Given the description of an element on the screen output the (x, y) to click on. 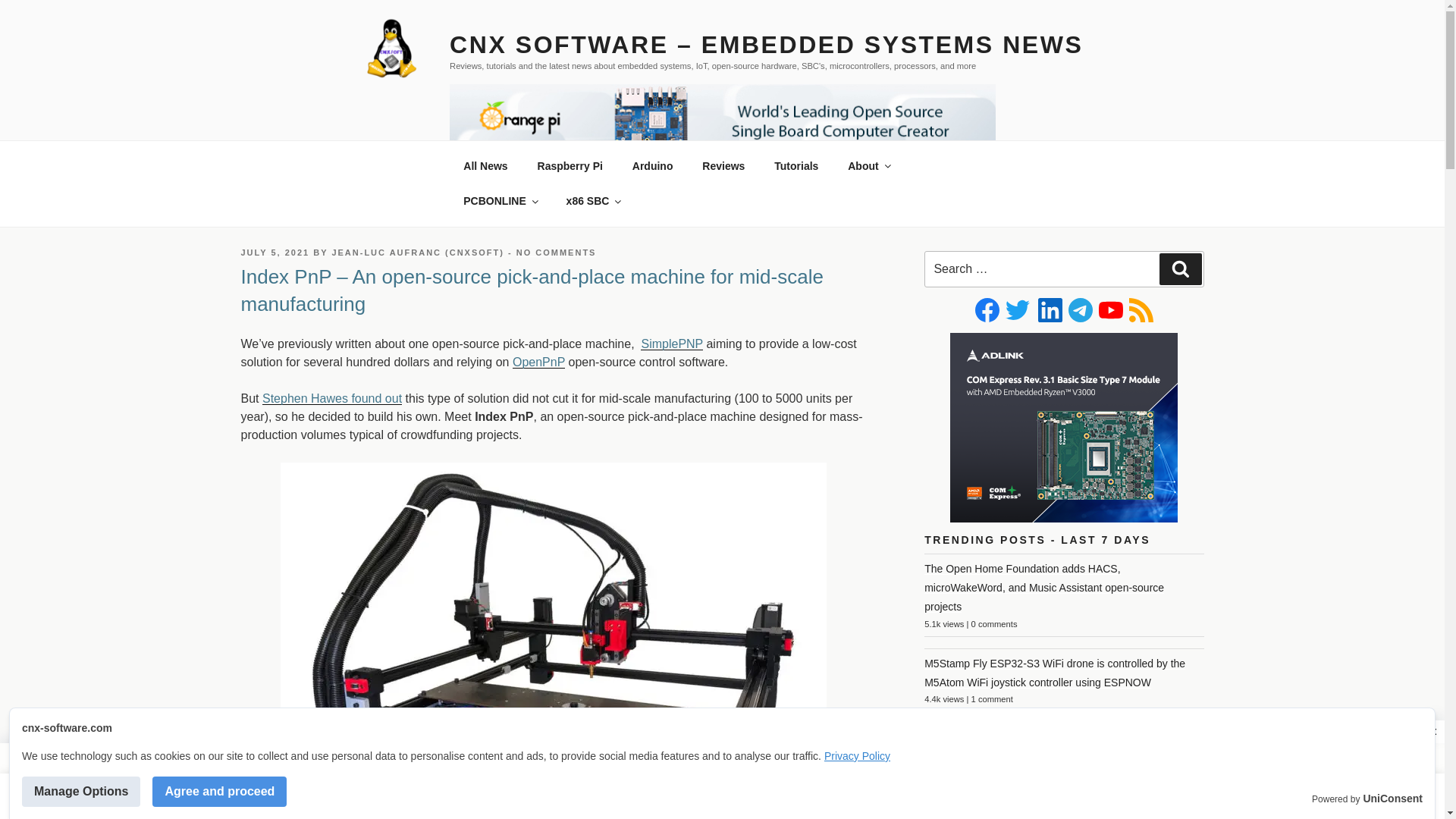
UniConsent Consent Manager (1392, 798)
SimplePNP (671, 343)
Purchase x86 SBCs from our sponsor (593, 200)
x86 SBC (593, 200)
Arduino (651, 165)
Manage Options (80, 791)
All News (485, 165)
OpenPnP (538, 361)
Stephen Hawes found out (331, 398)
UniConsent (1392, 798)
Agree and proceed (219, 791)
Privacy Policy (856, 756)
Reviews (723, 165)
Purchase PCBs from our sponsor (499, 200)
